Given the description of an element on the screen output the (x, y) to click on. 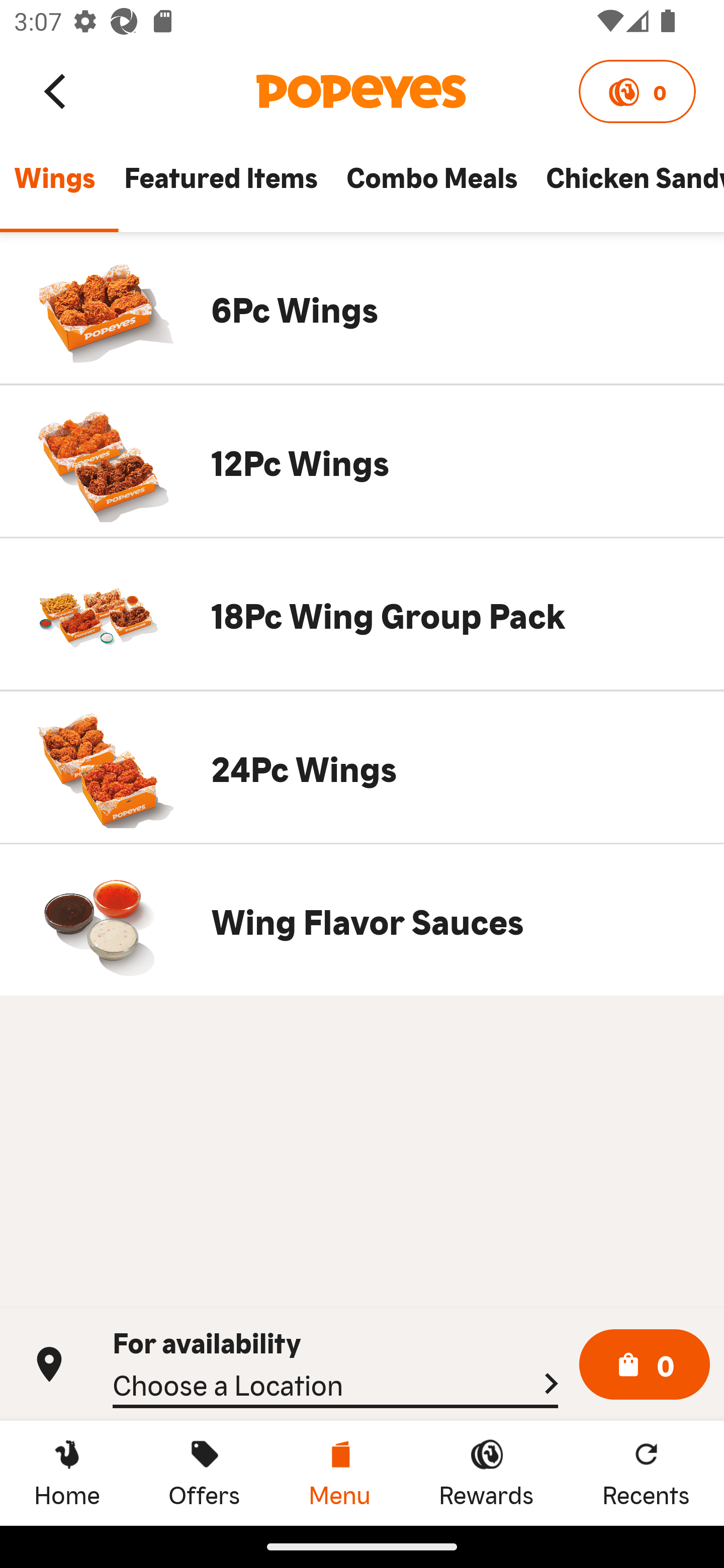
Back (56, 90)
0 Points 0 (636, 91)
Wings (54, 186)
Featured Items (220, 186)
Combo Meals (431, 186)
Chicken Sandwich   (627, 186)
0 Cart total  0 (644, 1364)
Home Home Home (66, 1472)
Offers Offers Offers (203, 1472)
Menu, current page Menu Menu, current page (339, 1472)
Rewards Rewards Rewards (486, 1472)
Recents Recents Recents (646, 1472)
